Given the description of an element on the screen output the (x, y) to click on. 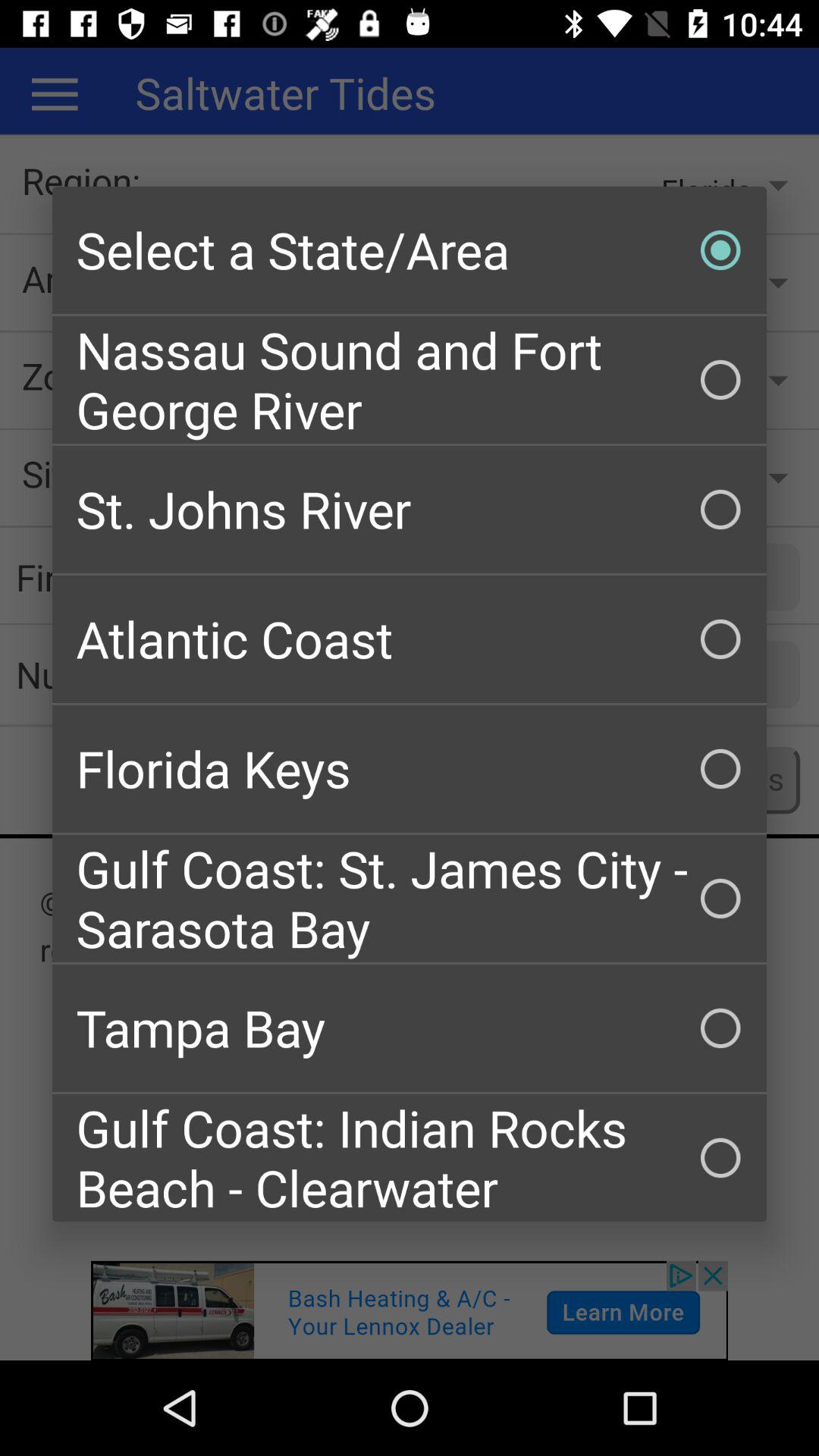
swipe until atlantic coast icon (409, 638)
